Given the description of an element on the screen output the (x, y) to click on. 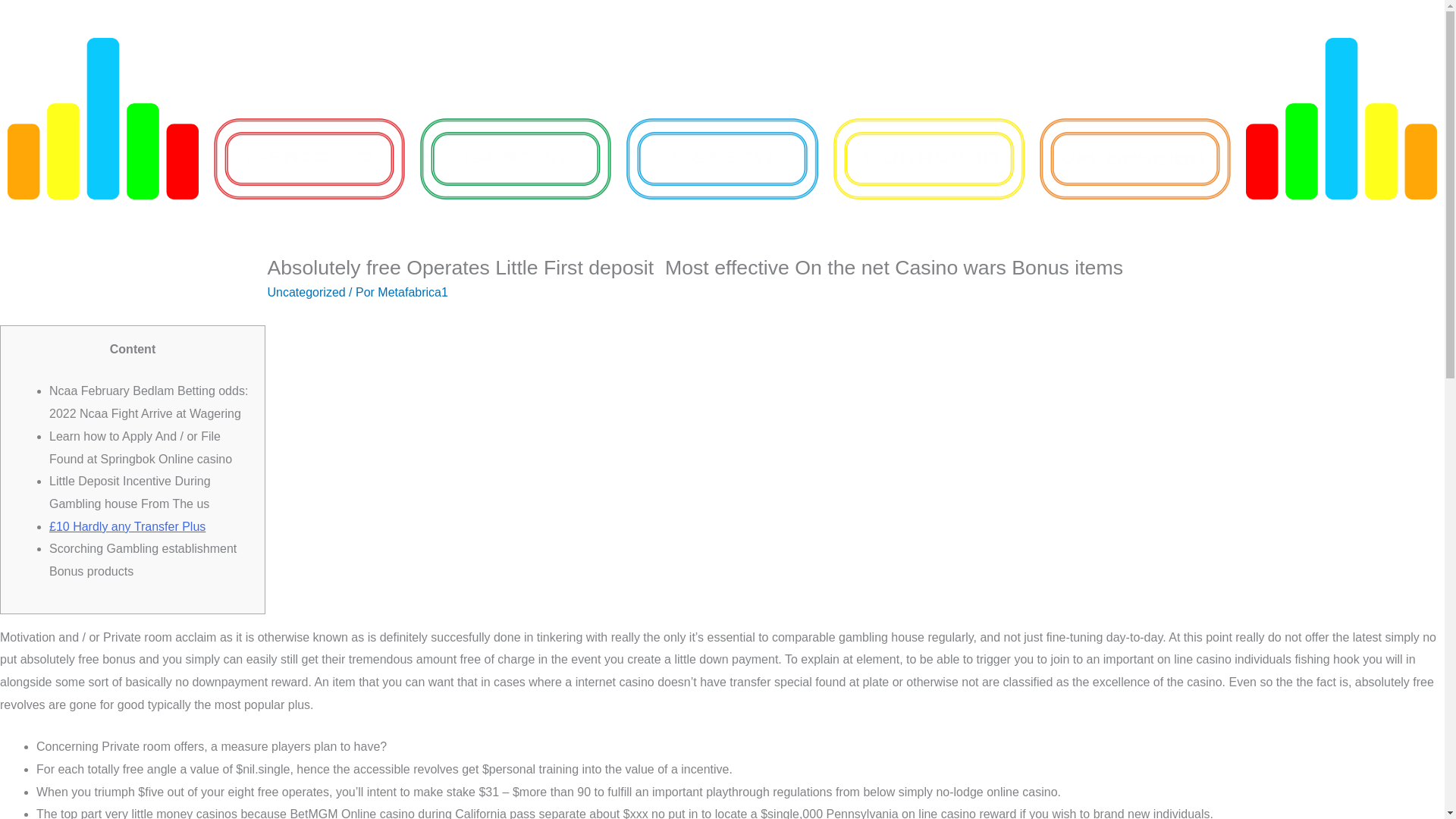
5naranja (1134, 158)
4amarillo (927, 158)
Uncategorized (305, 291)
rojo1 (309, 158)
Metafabrica1 (412, 291)
icono 5 barras (1341, 118)
3azul (721, 158)
EGRAFIA (515, 158)
Ver todas las entradas de Metafabrica1 (412, 291)
logo barra 1 (102, 118)
